Given the description of an element on the screen output the (x, y) to click on. 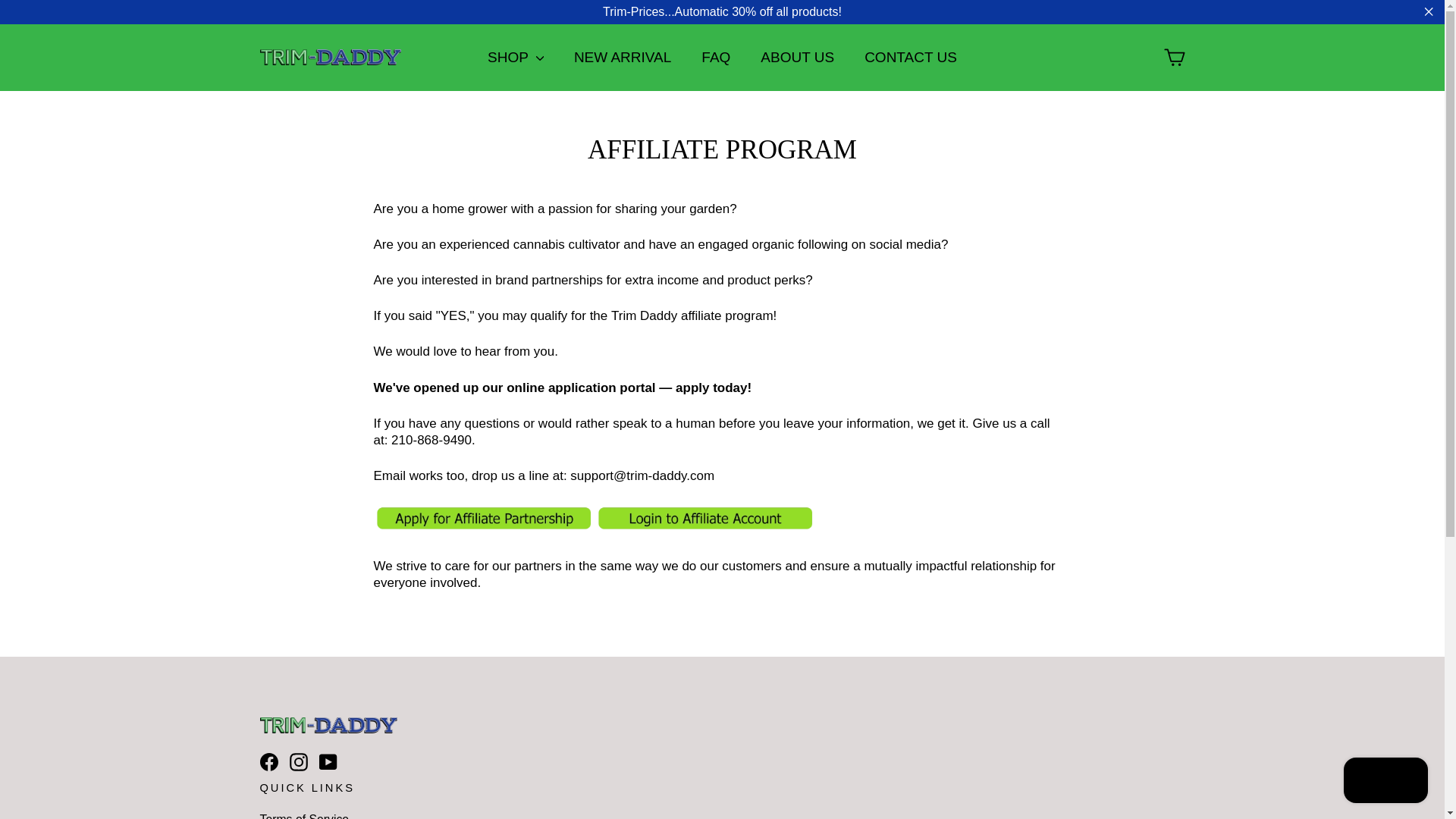
Trim-Daddy on Instagram (298, 761)
NEW ARRIVAL (622, 57)
FAQ (715, 57)
ABOUT US (796, 57)
Register to Trim Daddy Affiliate Program (483, 527)
CONTACT US (910, 57)
Cart (1173, 57)
SHOP (515, 57)
Trim-Daddy on Facebook (268, 761)
